Given the description of an element on the screen output the (x, y) to click on. 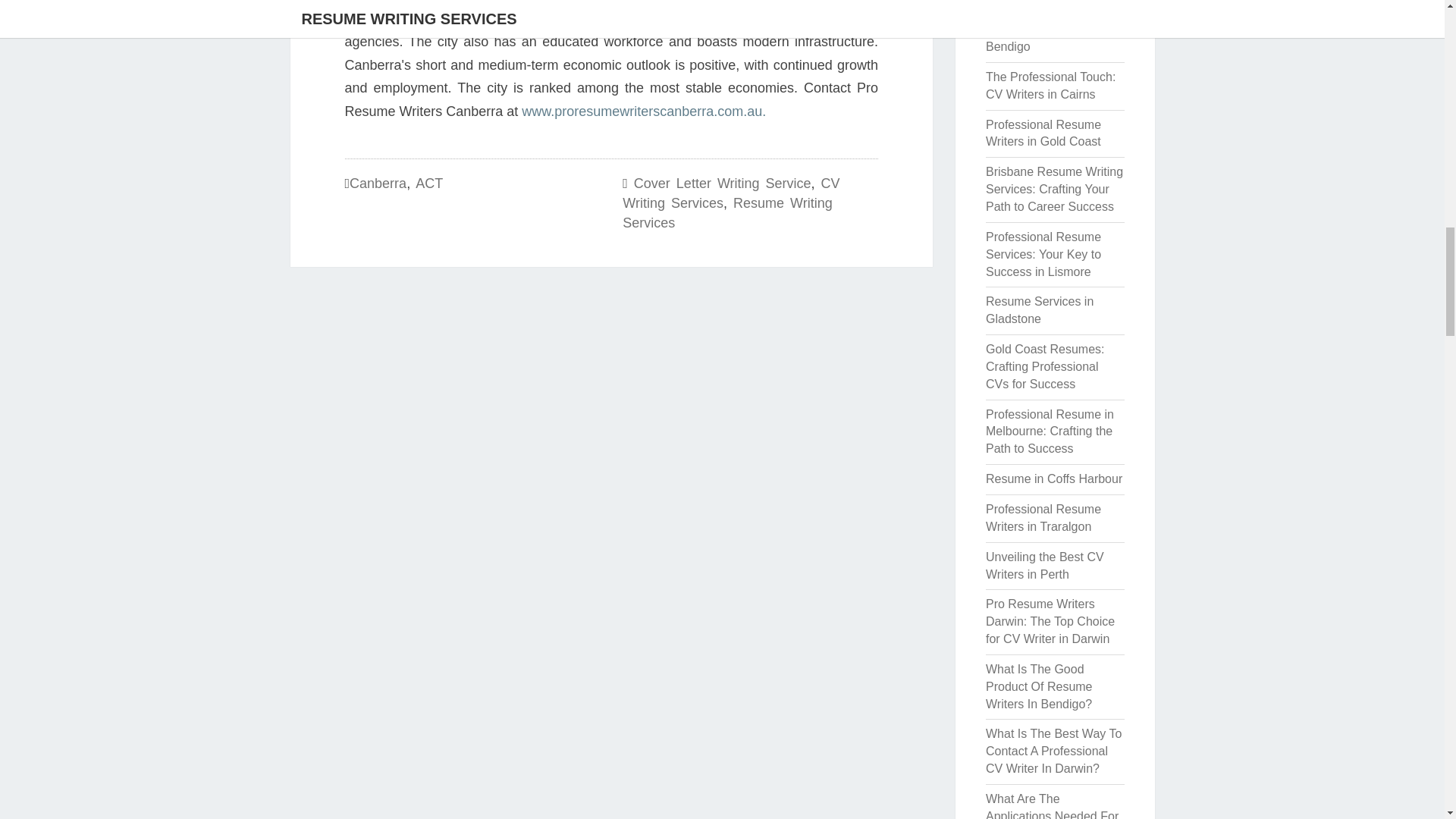
Unveiling the Best CV Writers in Perth (1044, 565)
Gold Coast Resumes: Crafting Professional CVs for Success (1045, 366)
The Professional Touch: CV Writers in Cairns (1050, 85)
Resume in Coffs Harbour (1053, 478)
Canberra (377, 183)
CV Writing Services (731, 193)
Resume Writing Services (727, 212)
ACT (428, 183)
